Given the description of an element on the screen output the (x, y) to click on. 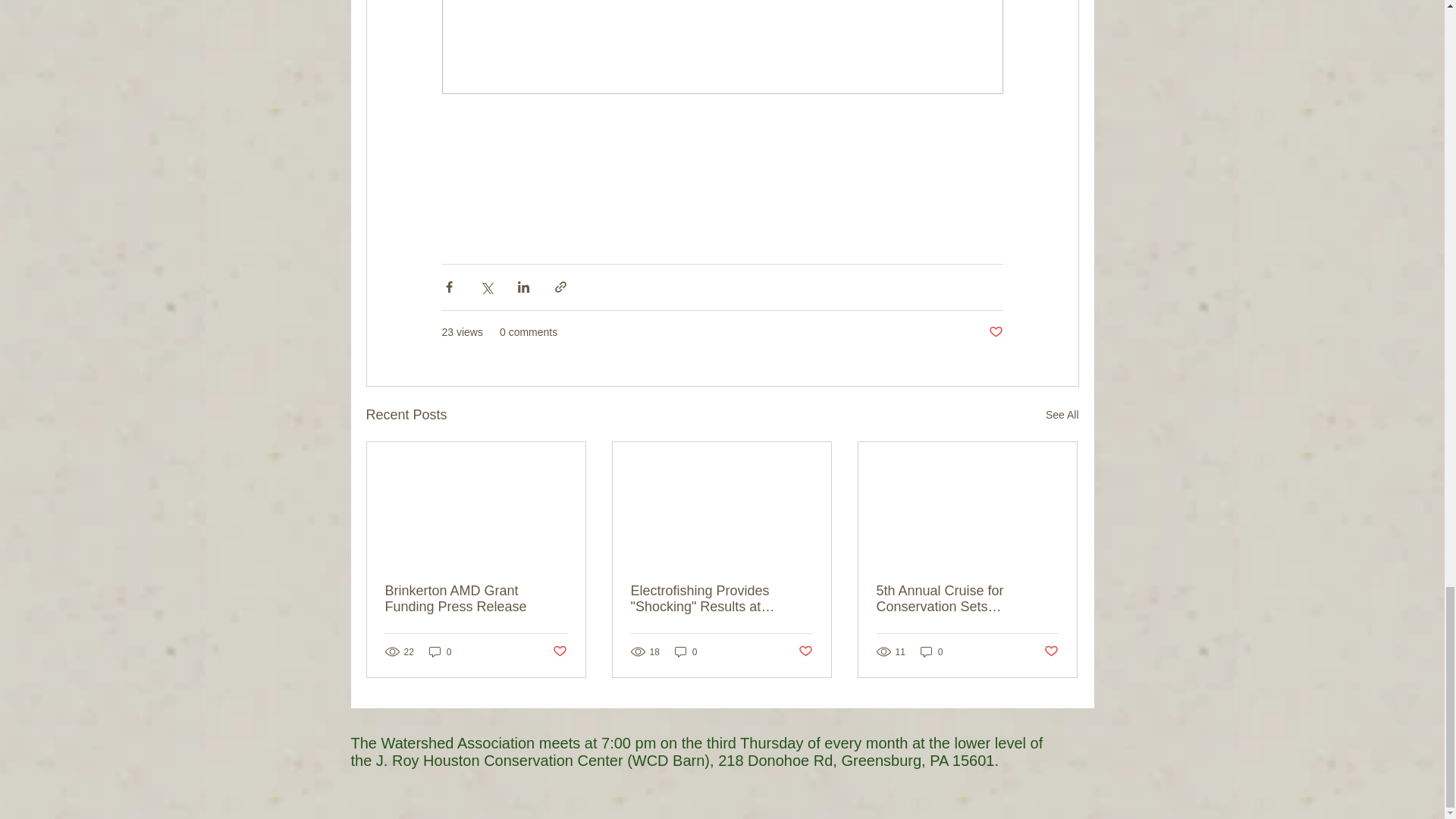
Post not marked as liked (558, 651)
Electrofishing Provides "Shocking" Results at Brinkerton (721, 599)
0 (685, 651)
0 (931, 651)
Post not marked as liked (995, 332)
Post not marked as liked (1050, 651)
Brinkerton AMD Grant Funding Press Release (476, 599)
5th Annual Cruise for Conservation Sets Attendance Record (967, 599)
0 (440, 651)
See All (1061, 414)
Post not marked as liked (804, 651)
